Given the description of an element on the screen output the (x, y) to click on. 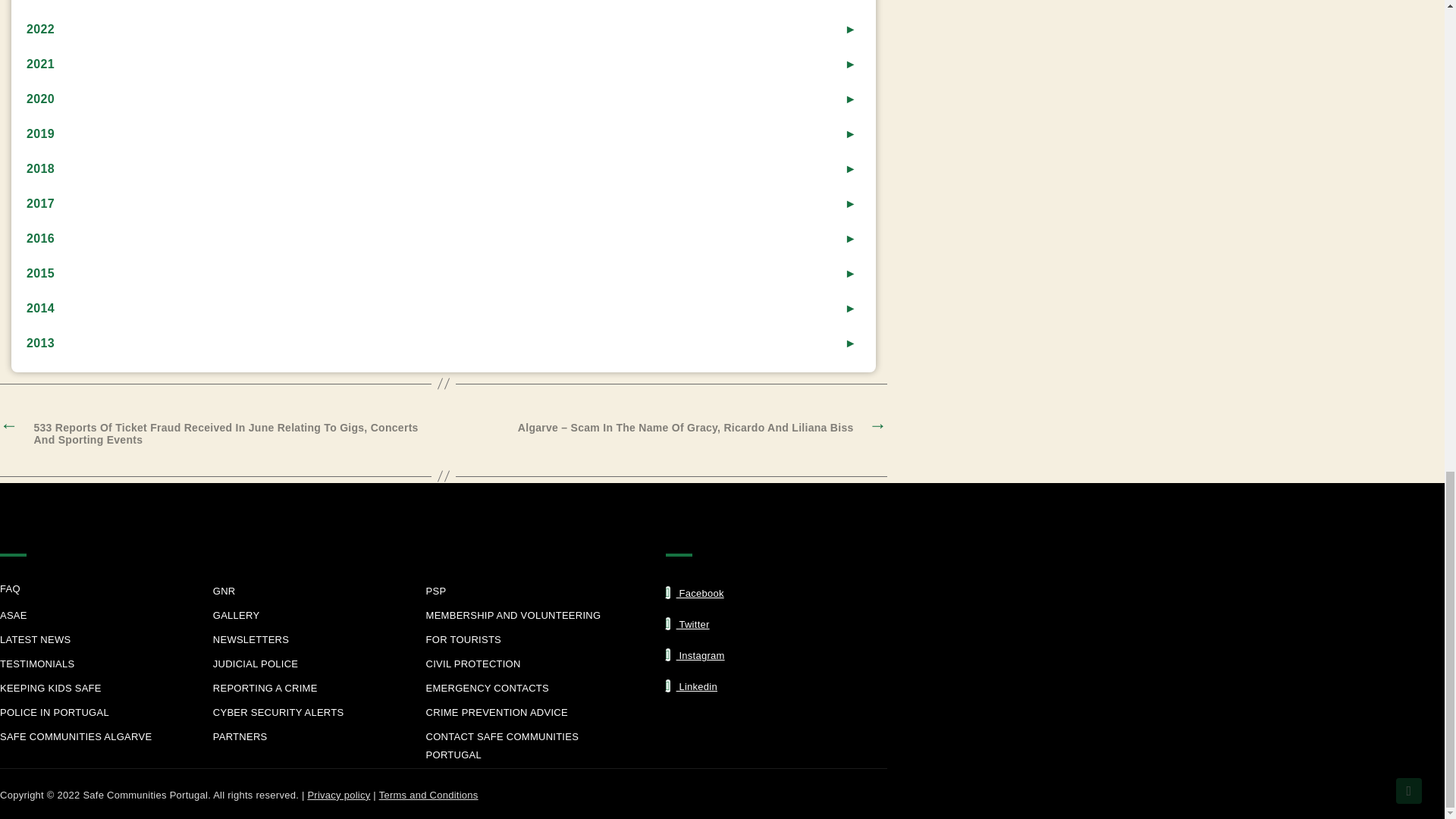
2021 (451, 63)
2022 (451, 29)
2020 (451, 99)
